Given the description of an element on the screen output the (x, y) to click on. 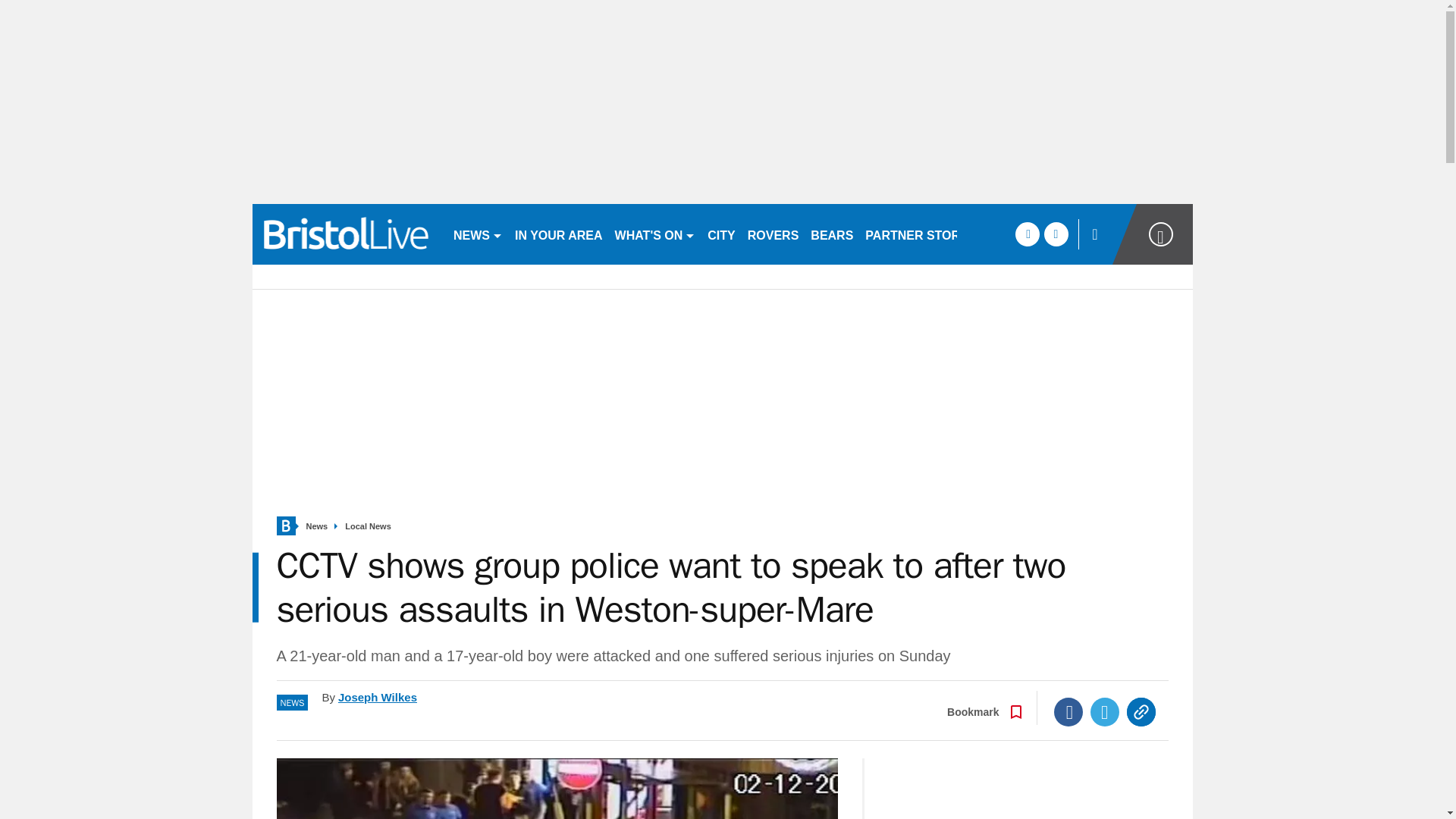
bristolpost (345, 233)
facebook (1026, 233)
WHAT'S ON (654, 233)
ROVERS (773, 233)
IN YOUR AREA (558, 233)
Facebook (1068, 711)
PARTNER STORIES (922, 233)
BEARS (832, 233)
Twitter (1104, 711)
twitter (1055, 233)
